Given the description of an element on the screen output the (x, y) to click on. 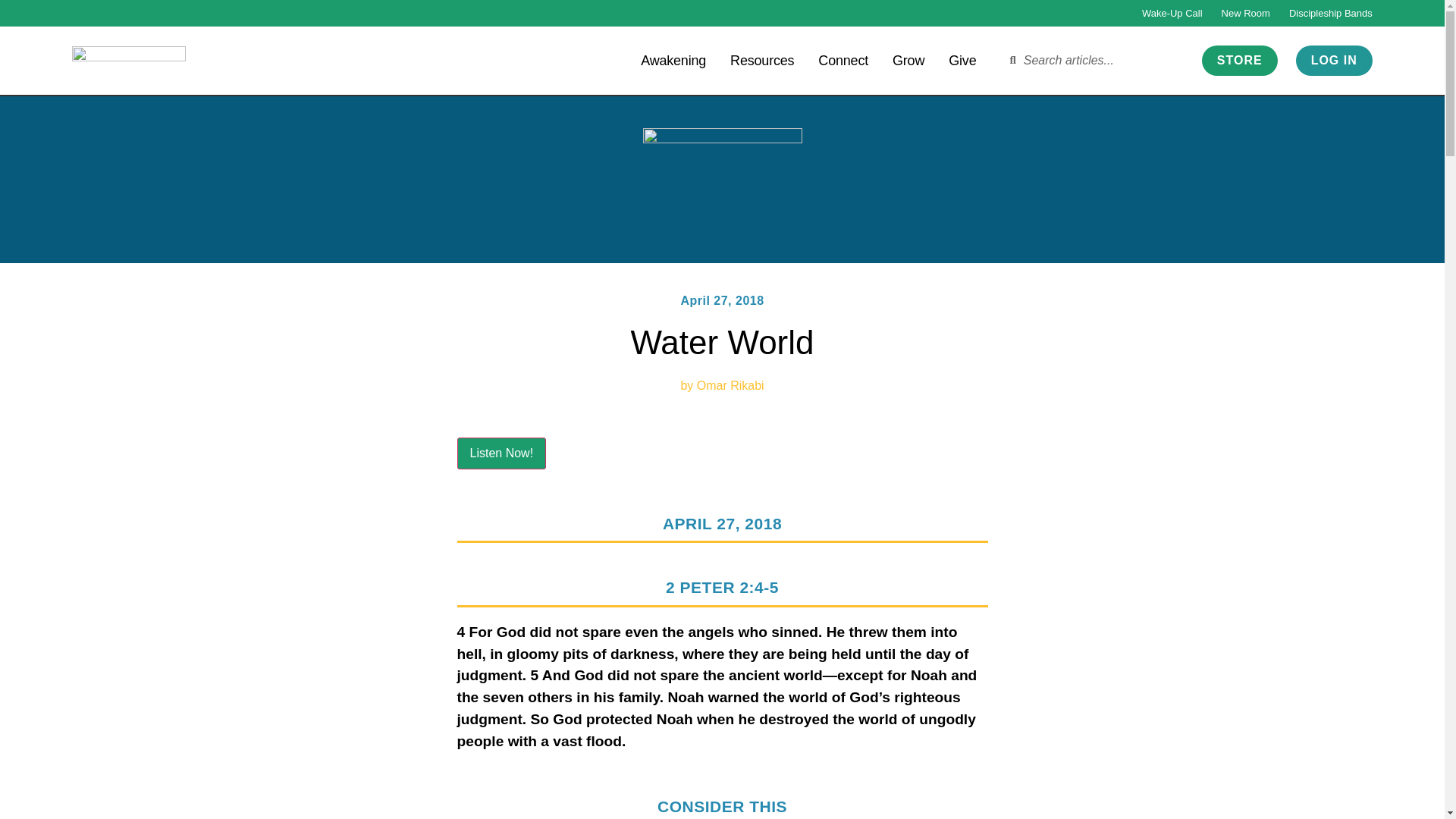
Discipleship Bands (1330, 13)
Awakening (673, 59)
Wake-Up Call (1171, 13)
New Room (1245, 13)
Connect (842, 59)
Resources (761, 59)
Grow (908, 59)
